Given the description of an element on the screen output the (x, y) to click on. 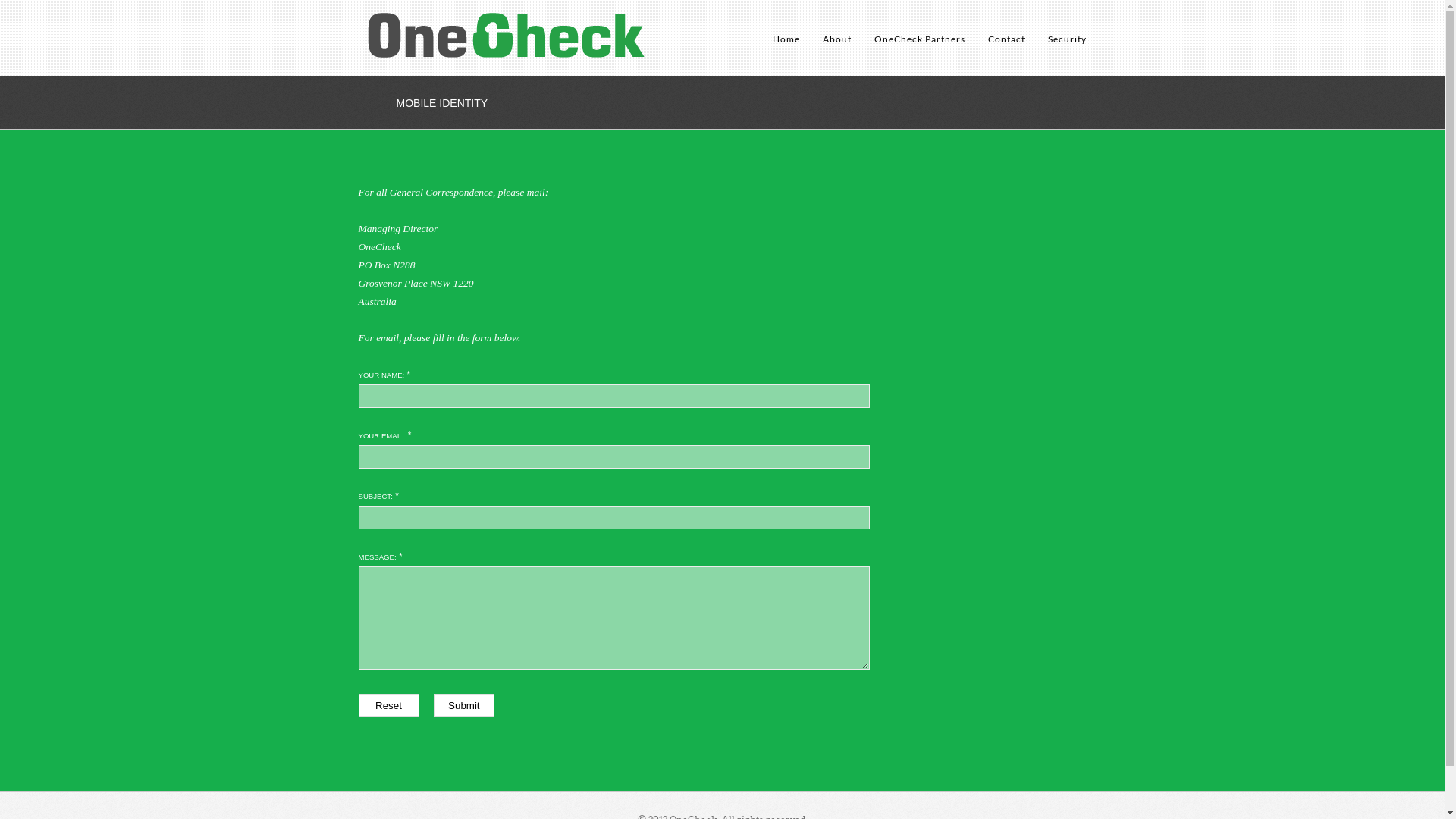
Security Element type: text (1067, 50)
Home Element type: hover (505, 38)
Submit Element type: text (463, 704)
OneCheck Partners Element type: text (918, 50)
Home Element type: text (785, 50)
Contact Element type: text (1005, 50)
About Element type: text (836, 50)
